Given the description of an element on the screen output the (x, y) to click on. 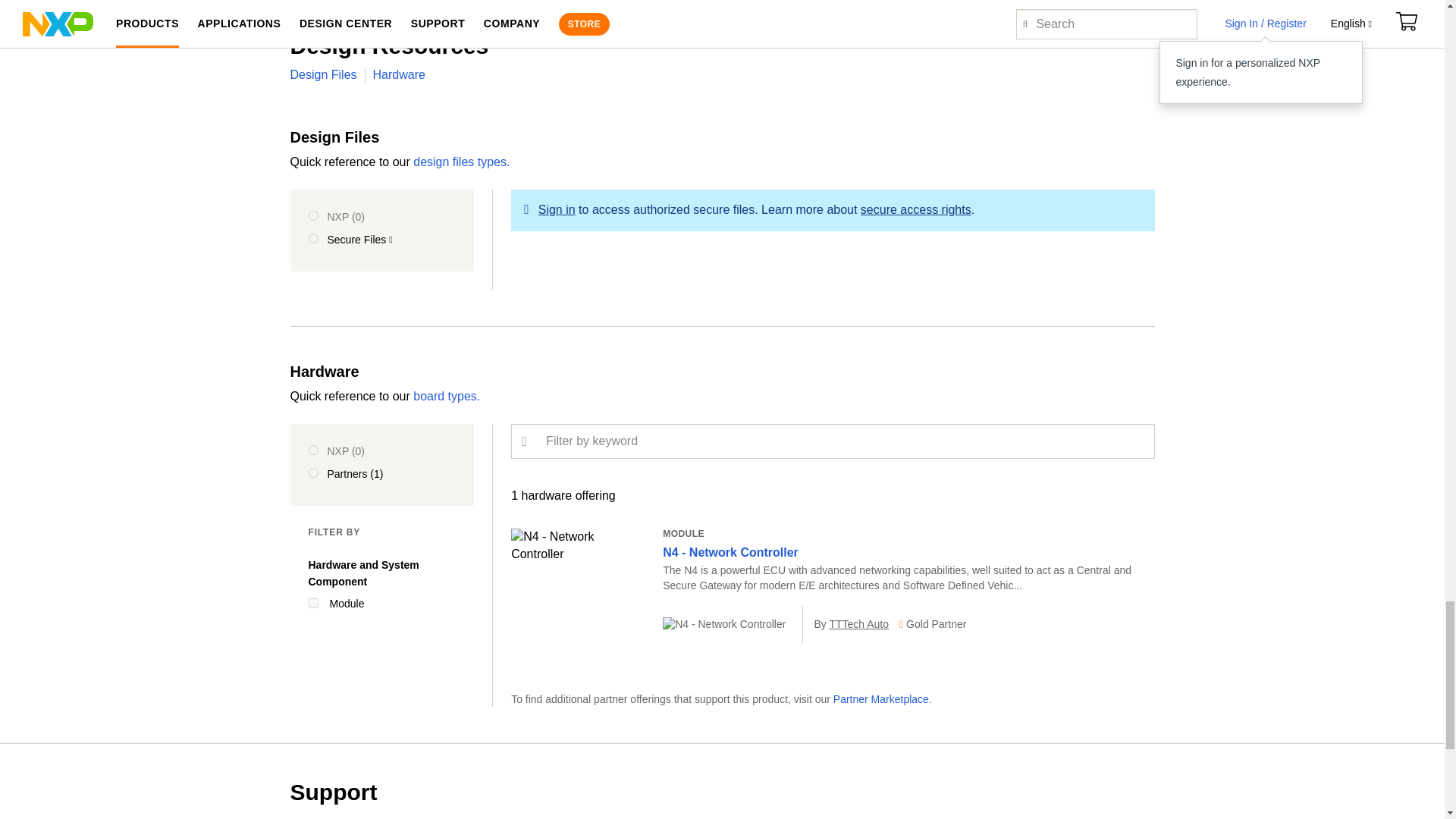
Module (312, 603)
partnerHardware (312, 472)
Secure Files (312, 238)
nxpHardware (312, 450)
nxpDesign (312, 215)
